Given the description of an element on the screen output the (x, y) to click on. 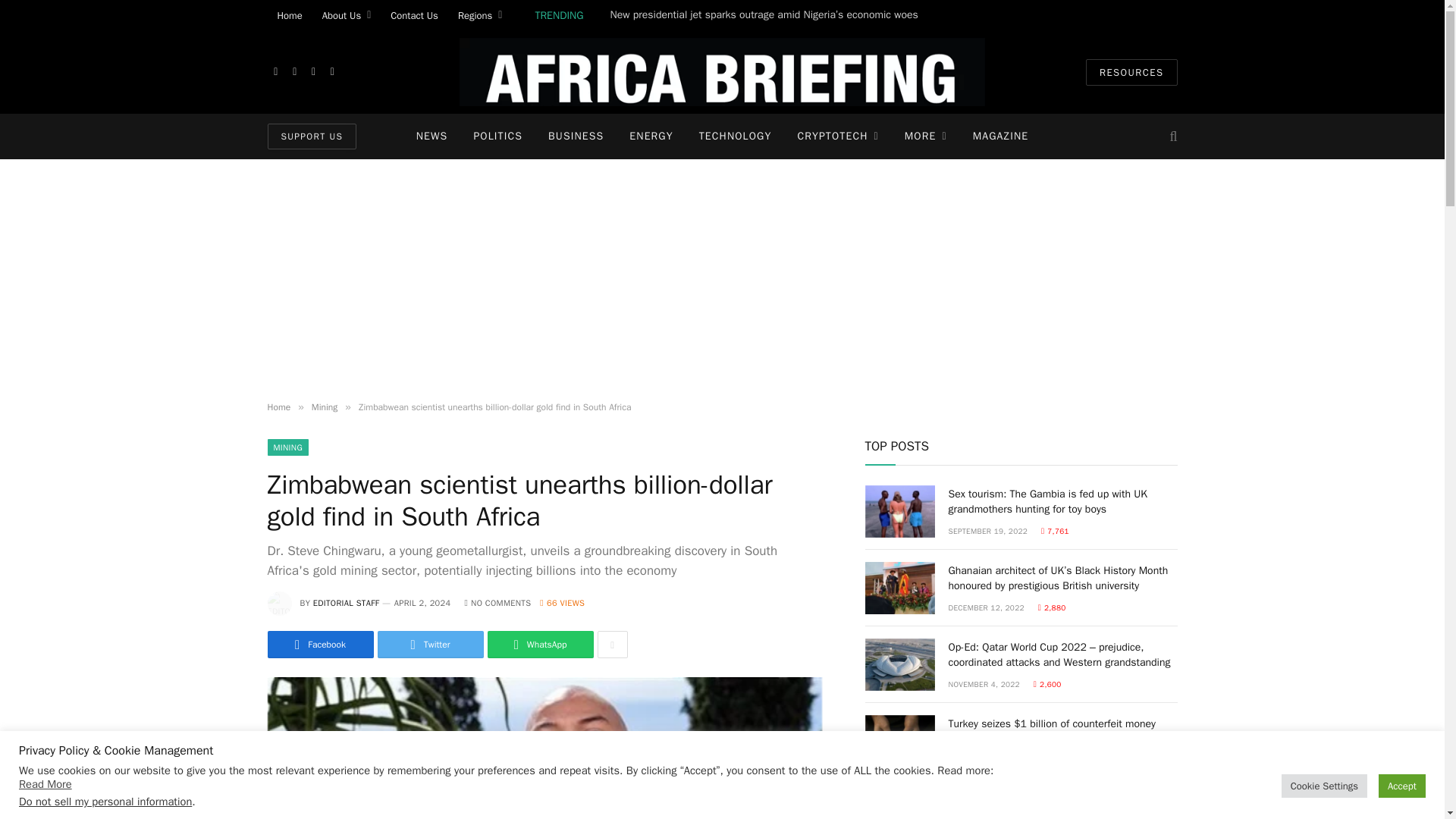
Regions (480, 15)
Share on Facebook (319, 644)
66 Article Views (562, 602)
Share on WhatsApp (539, 644)
Show More Social Sharing (611, 644)
Contact Us (414, 15)
Posts by Editorial Staff (346, 602)
Africa Briefing (722, 71)
Home (288, 15)
